Given the description of an element on the screen output the (x, y) to click on. 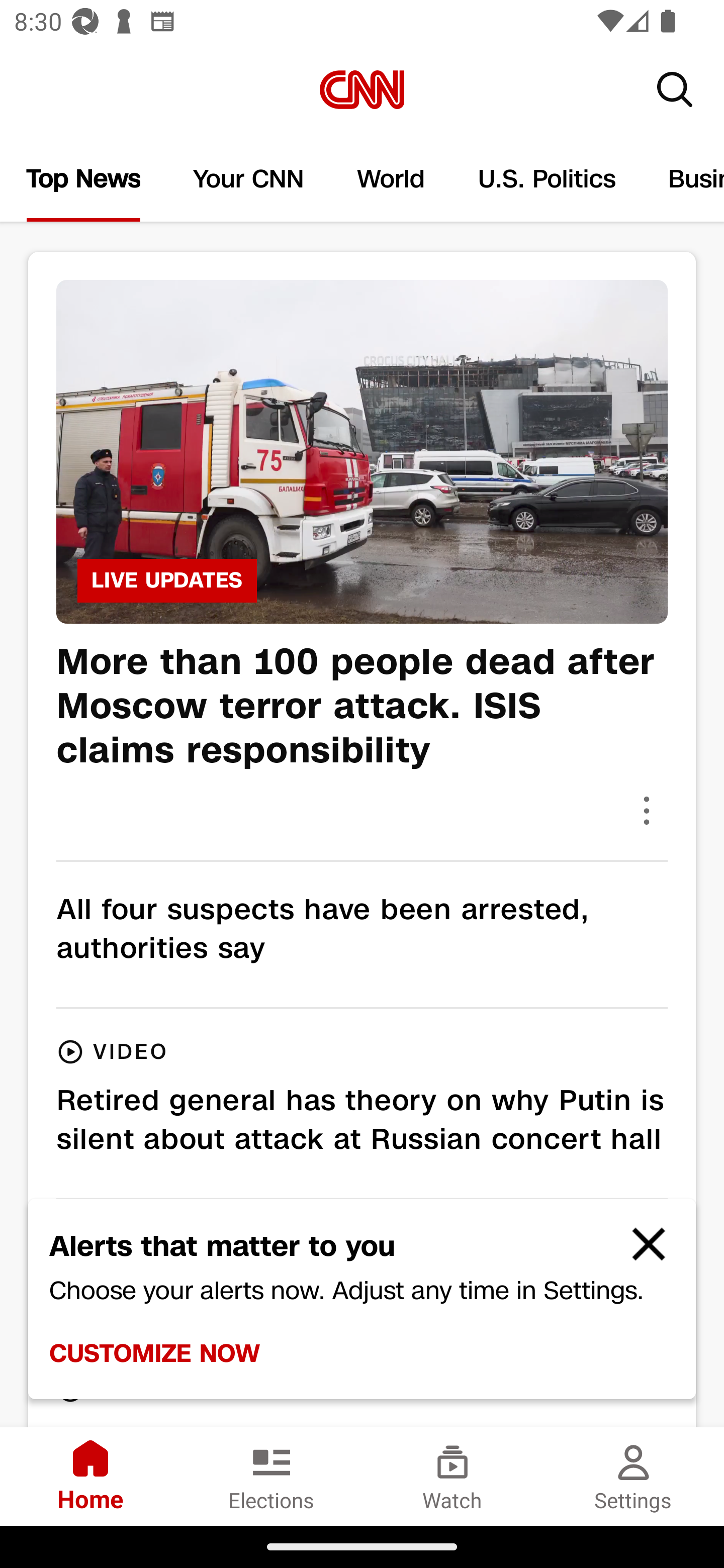
Your CNN (248, 179)
World (390, 179)
U.S. Politics (546, 179)
More actions (646, 810)
close (639, 1251)
Elections (271, 1475)
Watch (452, 1475)
Settings (633, 1475)
